Given the description of an element on the screen output the (x, y) to click on. 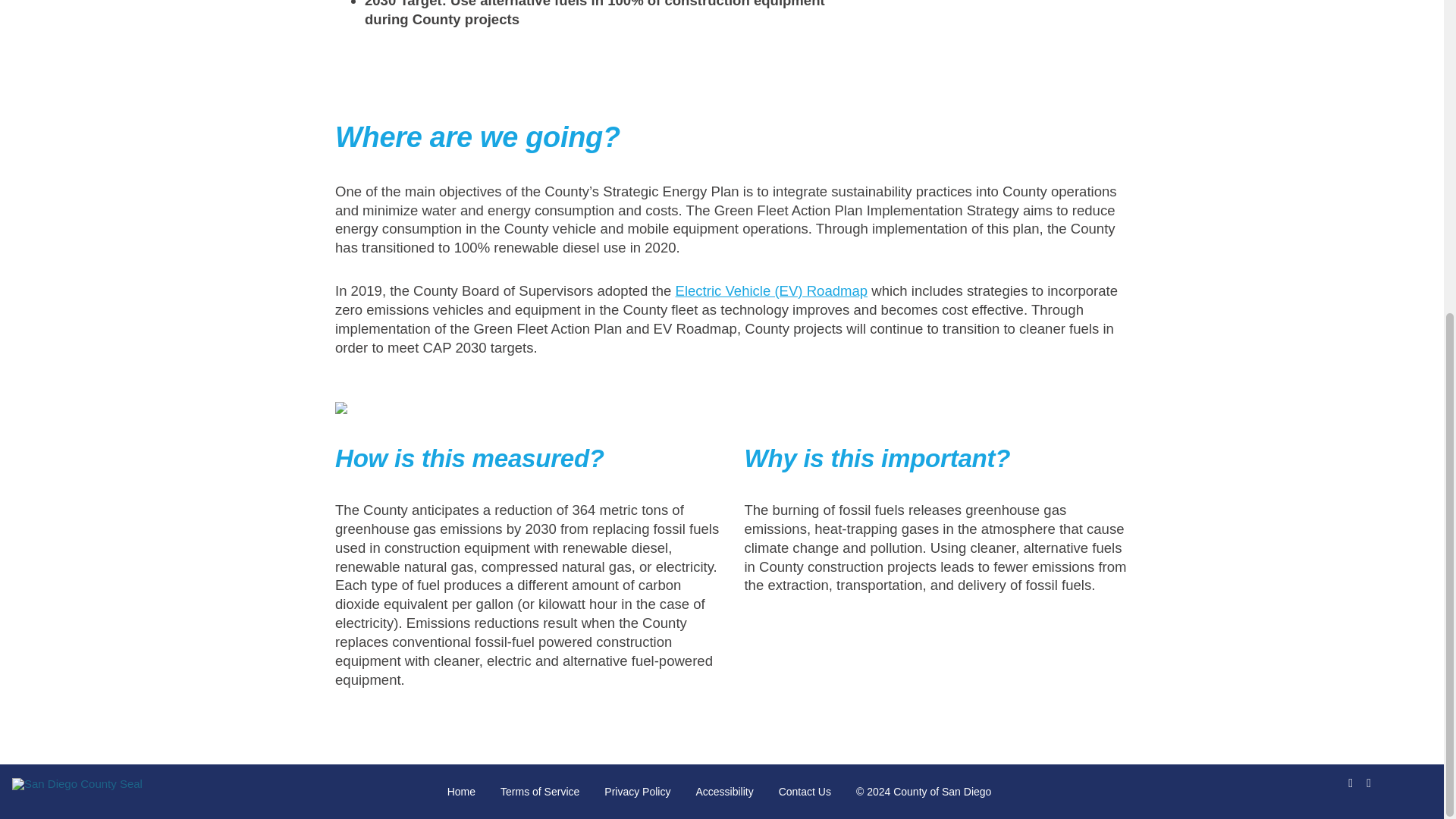
Accessibility (723, 791)
Terms of Service (539, 791)
Privacy Policy (636, 791)
Home (461, 791)
Contact Us (804, 791)
